Given the description of an element on the screen output the (x, y) to click on. 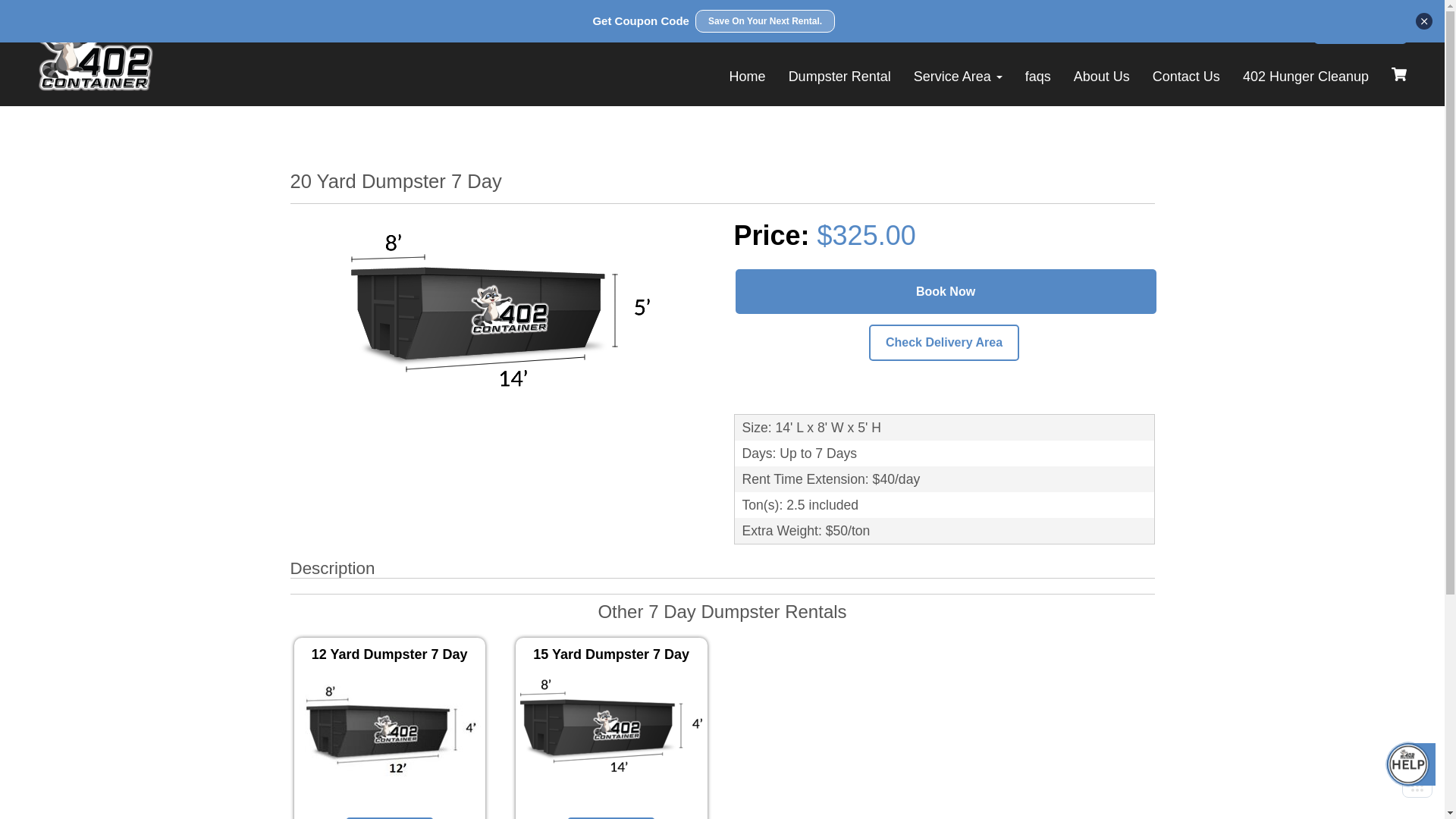
Save On Your Next Rental. Element type: text (764, 20)
402 Hunger Cleanup Element type: text (1305, 76)
Book Now Element type: text (1360, 26)
Dumpster Rental Element type: text (839, 76)
+1 402-979-5900 Element type: text (1211, 26)
15 Yard Dumpster 7 Day Element type: text (611, 730)
About Us Element type: text (1101, 76)
Service Area Element type: text (957, 76)
20 Yard Dumpster 7 Day Element type: hover (500, 310)
faqs Element type: text (1038, 76)
Check Delivery Area Element type: text (944, 342)
12 Yard Dumpster 7 Day Element type: text (390, 730)
Home Element type: text (747, 76)
Contact Us Element type: text (1186, 76)
